Given the description of an element on the screen output the (x, y) to click on. 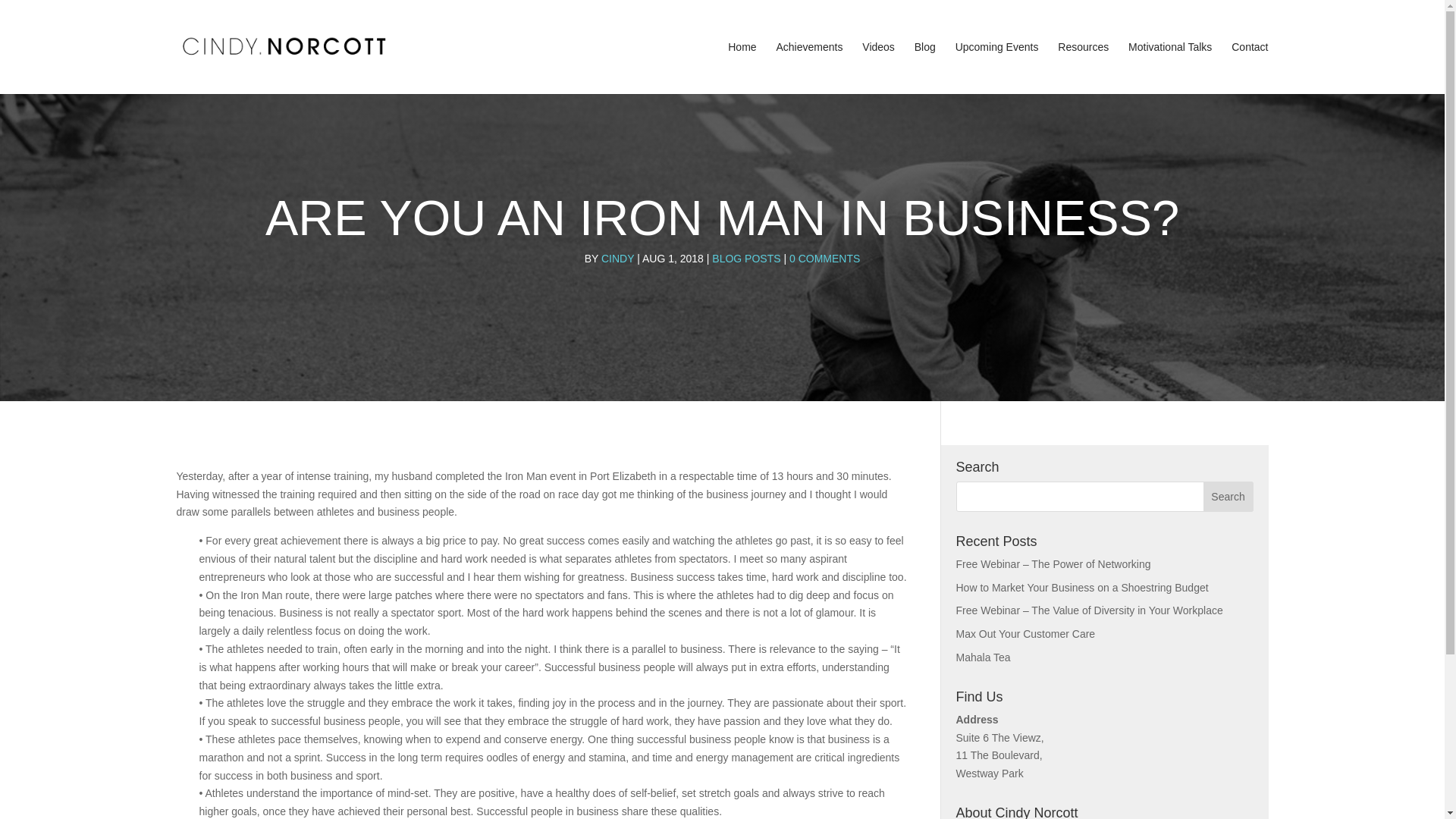
0 COMMENTS (824, 258)
Motivational Talks (1169, 67)
Resources (1083, 67)
CINDY (617, 258)
Achievements (809, 67)
Max Out Your Customer Care (1024, 633)
BLOG POSTS (745, 258)
Search (1228, 496)
Upcoming Events (997, 67)
Posts by cindy (617, 258)
Mahala Tea (982, 657)
How to Market Your Business on a Shoestring Budget (1081, 587)
Search (1228, 496)
